Given the description of an element on the screen output the (x, y) to click on. 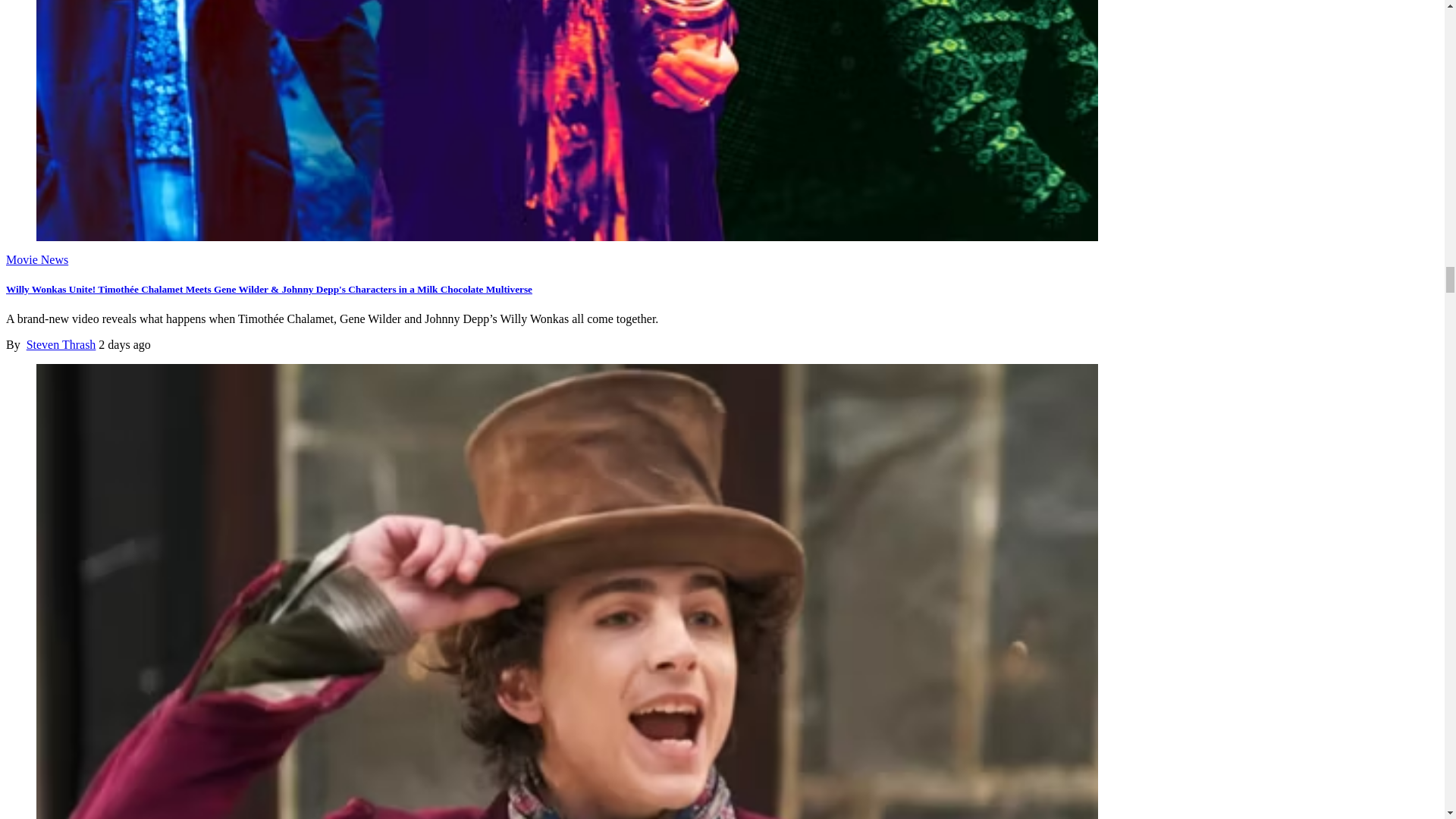
Posts by Steven Thrash (61, 344)
